Given the description of an element on the screen output the (x, y) to click on. 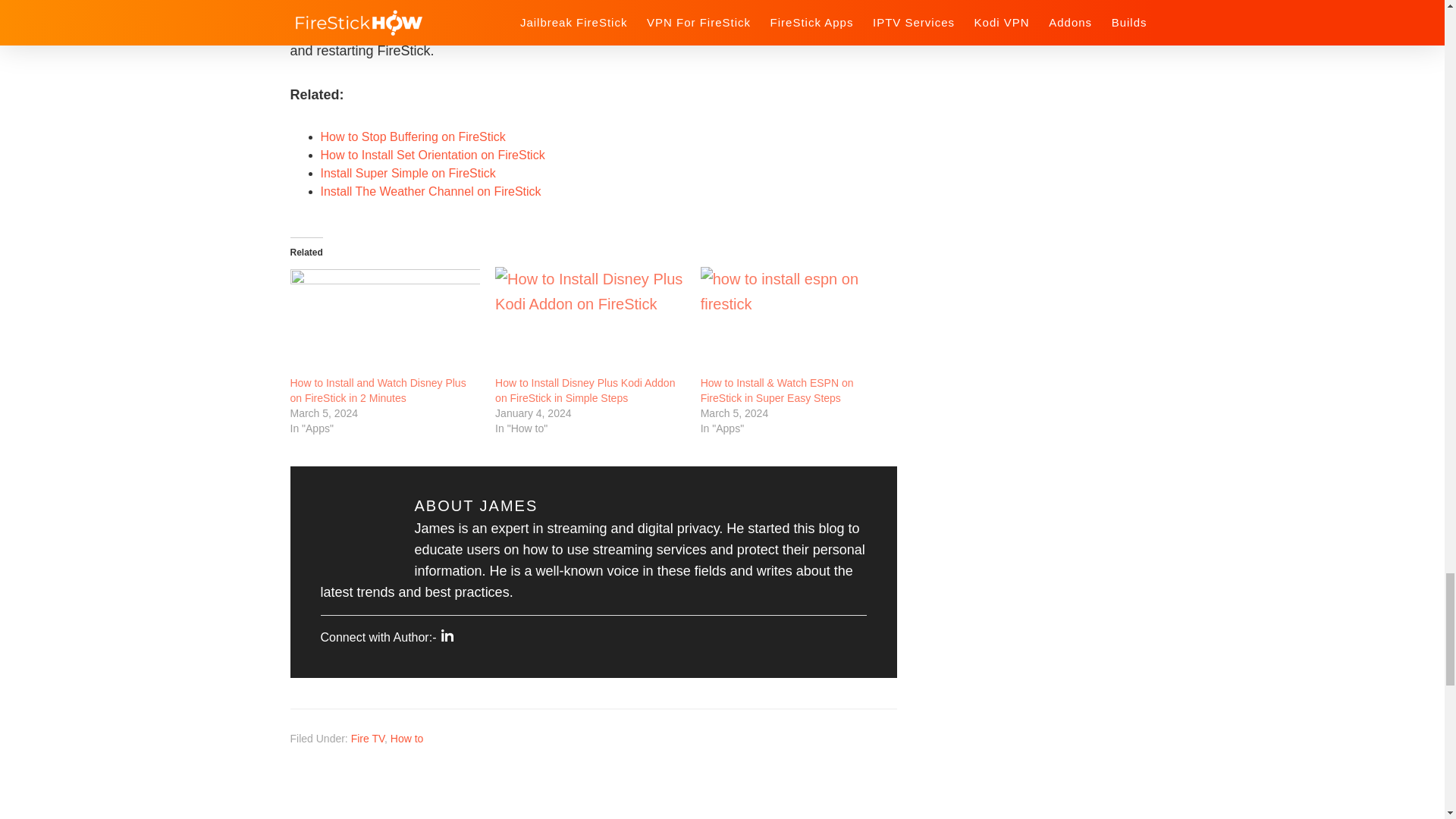
Fire TV (367, 738)
How to Install Set Orientation on FireStick (432, 154)
Install Super Simple on FireStick (407, 173)
Install The Weather Channel on FireStick (430, 191)
How to Stop Buffering on FireStick (412, 136)
How to (406, 738)
